Given the description of an element on the screen output the (x, y) to click on. 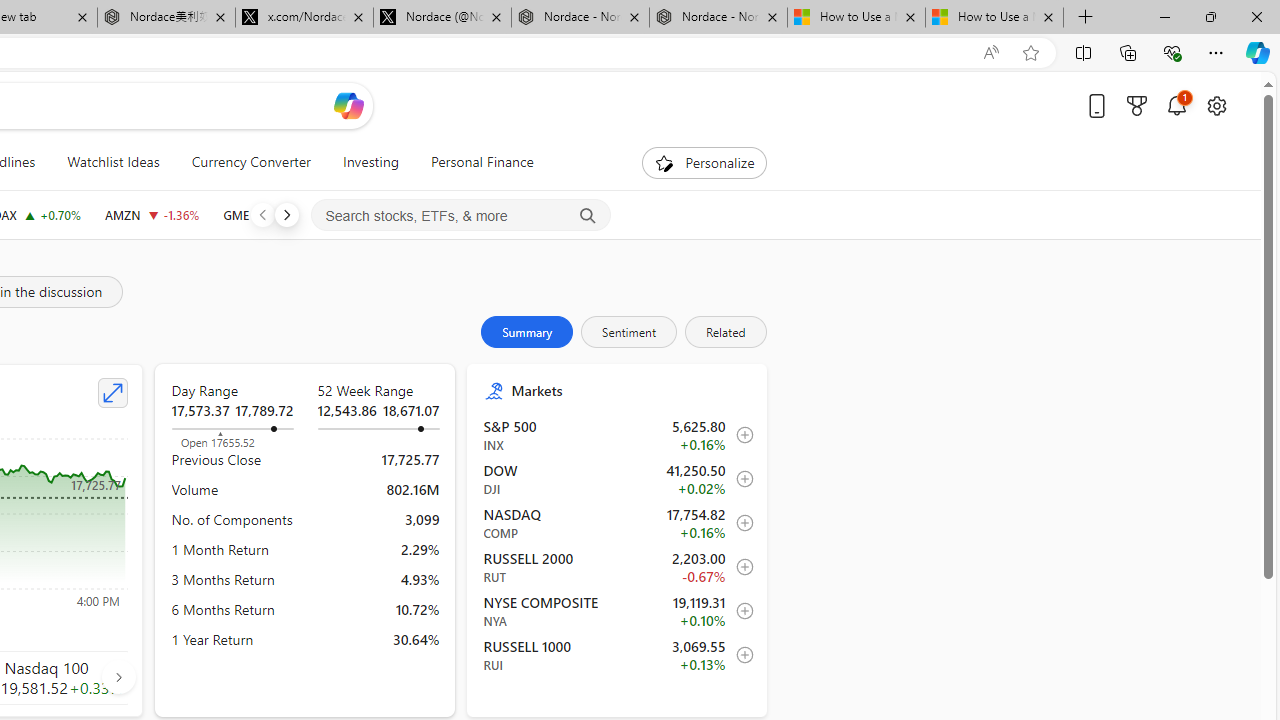
Notifications (1176, 105)
AutomationID: finance_carousel_navi_arrow (118, 676)
Watchlist Ideas (113, 162)
How to Use a Monitor With Your Closed Laptop (994, 17)
DJI DOW increase 41,250.50 +9.98 +0.02% itemundefined (617, 479)
INX S&P 500 increase 5,625.80 +8.96 +0.16% itemundefined (617, 435)
Microsoft rewards (1137, 105)
Search stocks, ETFs, & more (461, 215)
